Given the description of an element on the screen output the (x, y) to click on. 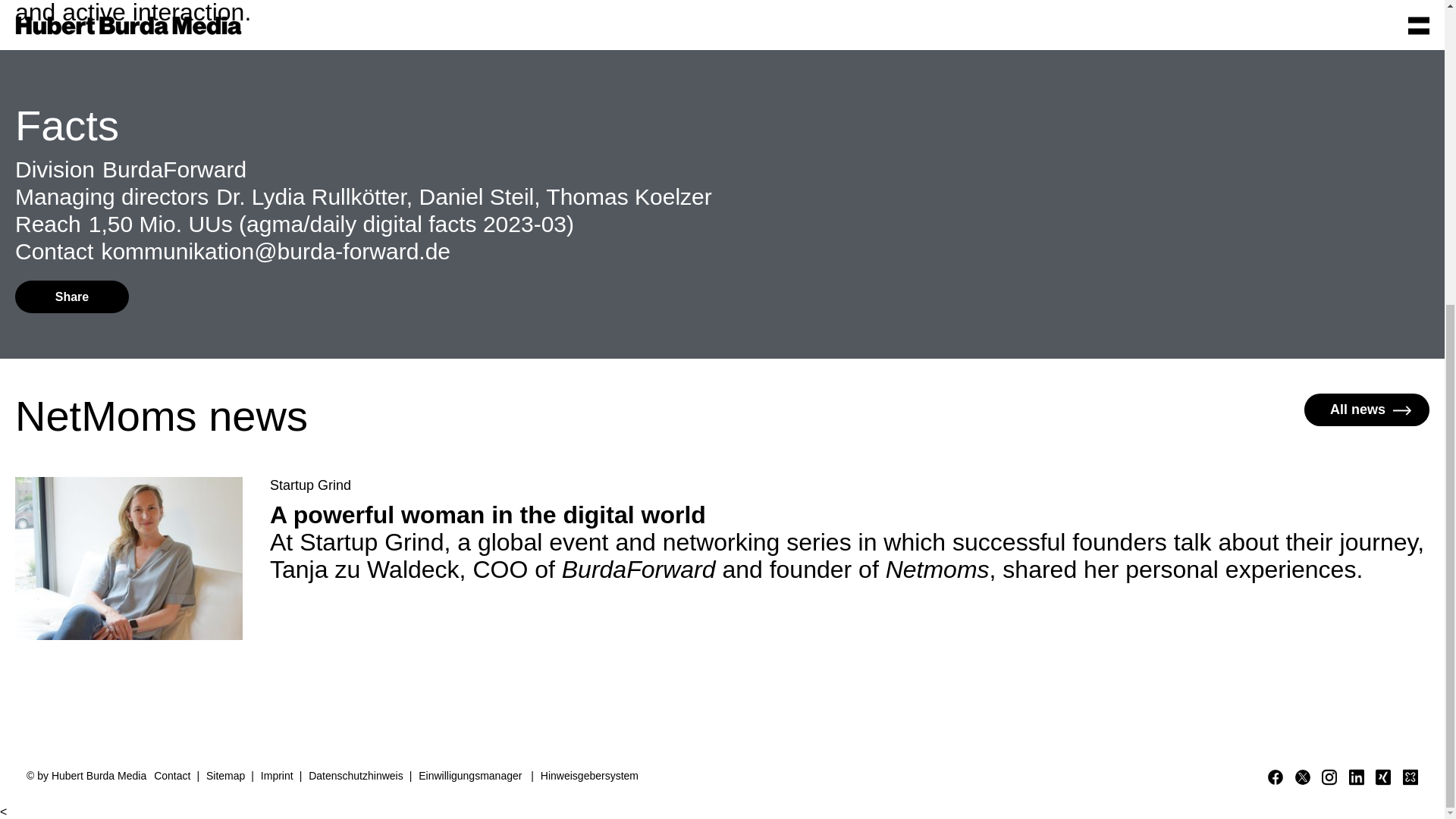
All news (1366, 409)
Share (71, 296)
NetMoms news (160, 415)
Contact (174, 775)
Sitemap (227, 775)
BurdaForward (173, 169)
Imprint (279, 775)
A powerful woman in the digital world (849, 514)
Hinweisgebersystem (588, 775)
